Given the description of an element on the screen output the (x, y) to click on. 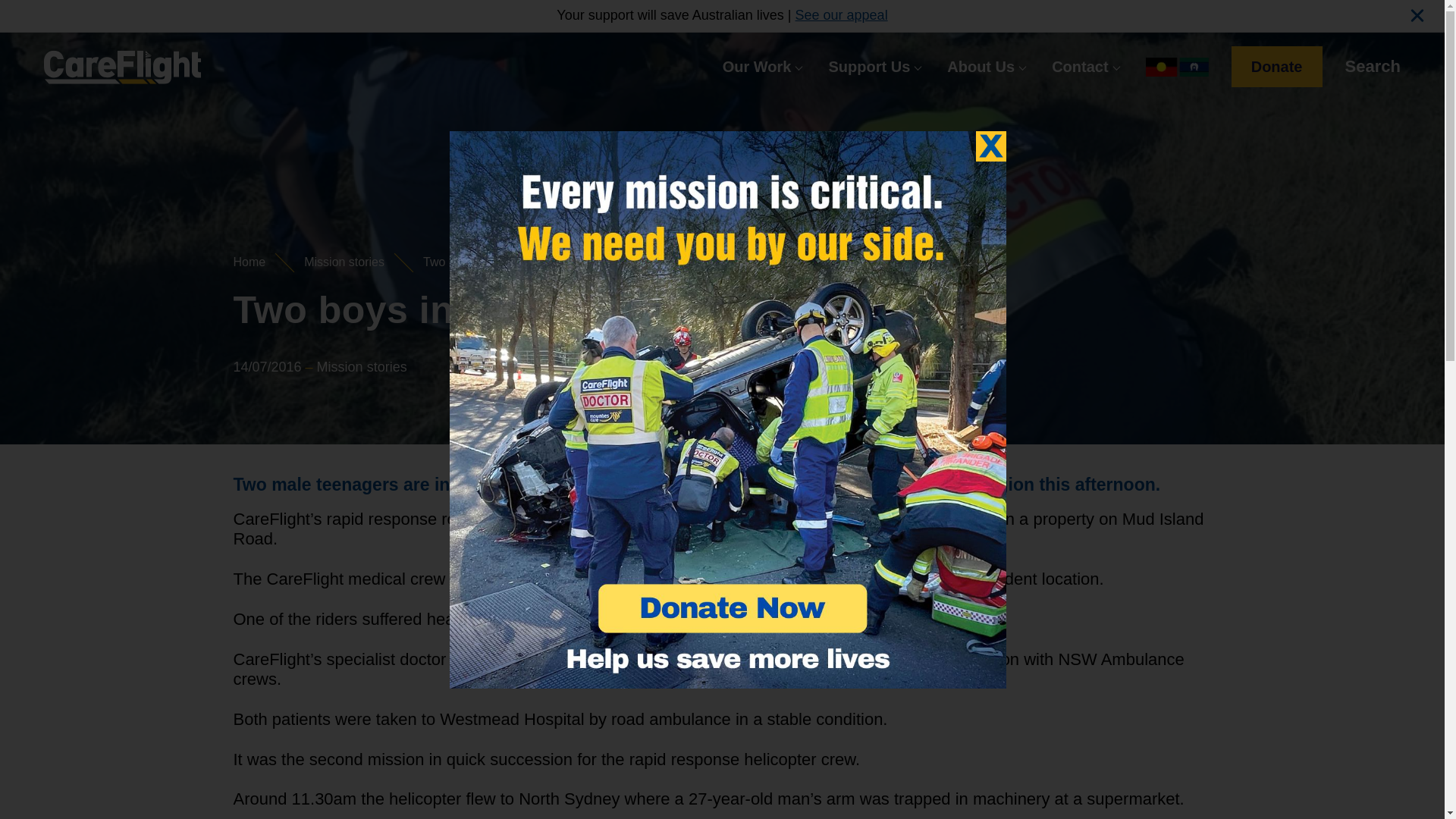
Support Us (875, 66)
close (1417, 15)
Our Work (763, 66)
See our appeal (841, 14)
Close (990, 145)
About Us (987, 66)
